Given the description of an element on the screen output the (x, y) to click on. 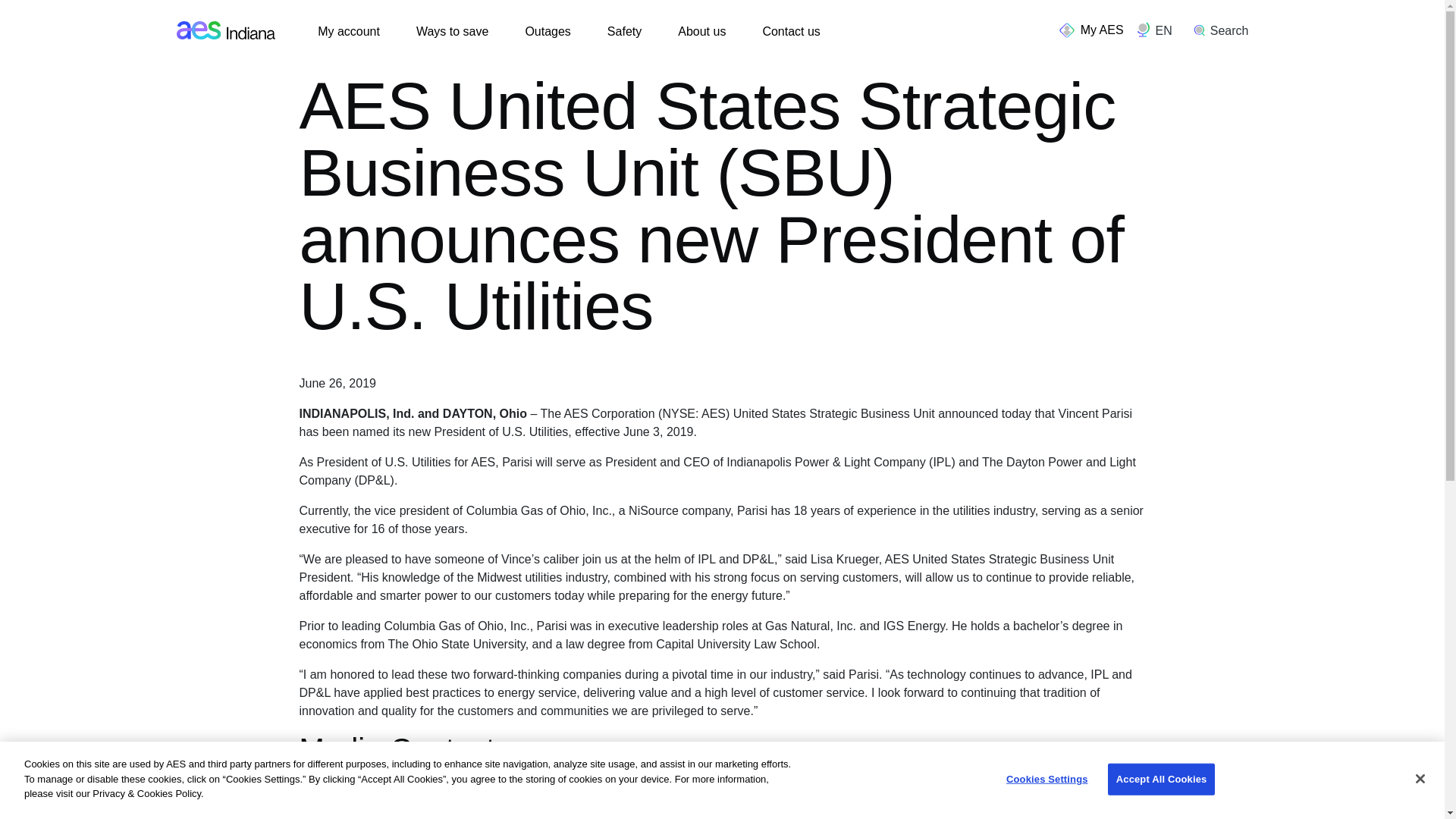
My account (348, 31)
Outages (547, 31)
About us (701, 31)
Safety (624, 31)
Outages (547, 31)
Ways to save (451, 31)
Safety (624, 31)
My account (348, 31)
Contact us (790, 31)
Ways to save (451, 31)
